Given the description of an element on the screen output the (x, y) to click on. 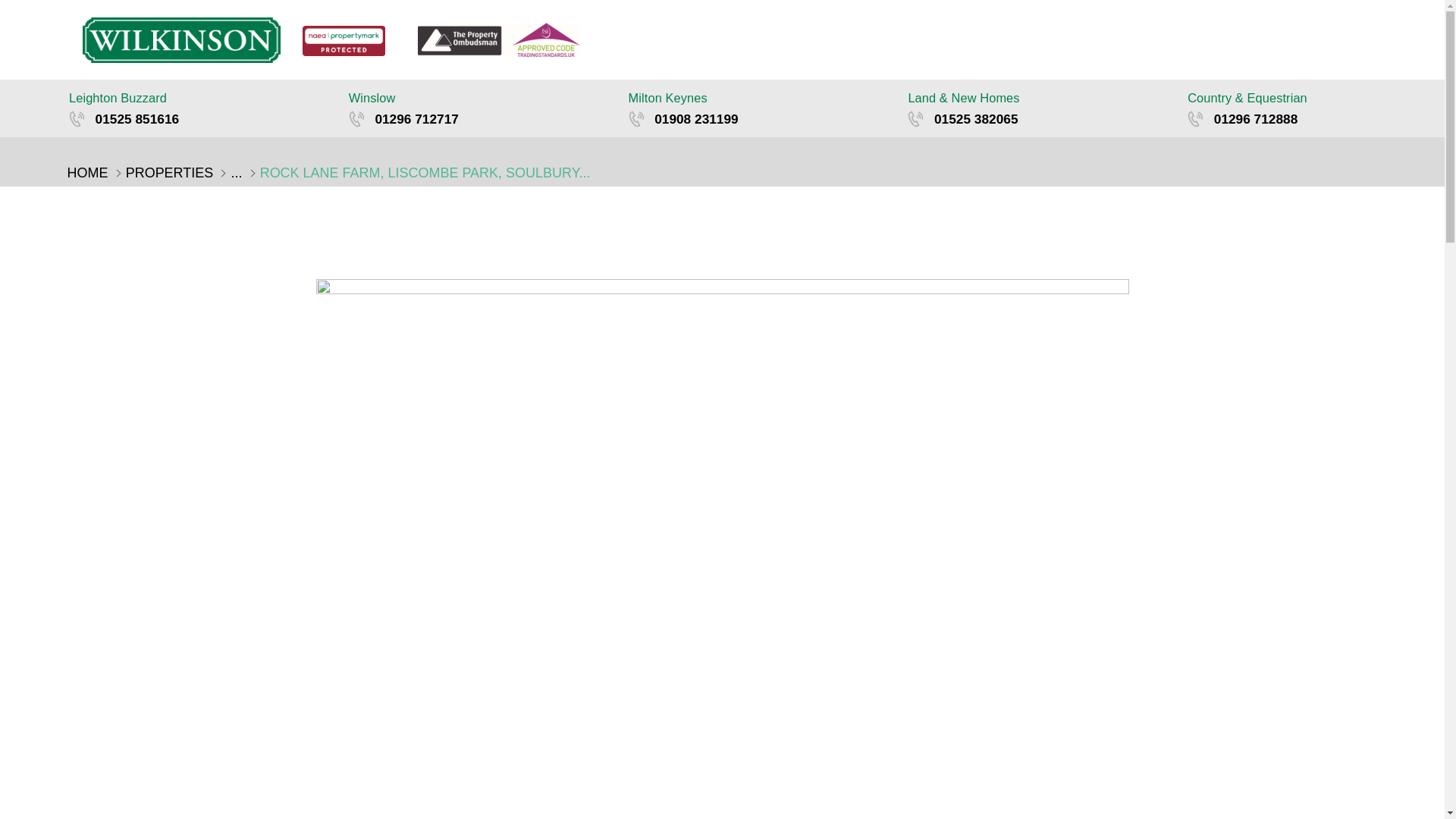
01525 851616 (199, 118)
01296 712717 (479, 118)
01908 231199 (758, 118)
NAEA Propertymark Protected (343, 40)
the-property-ombudsman-logo (498, 39)
